Given the description of an element on the screen output the (x, y) to click on. 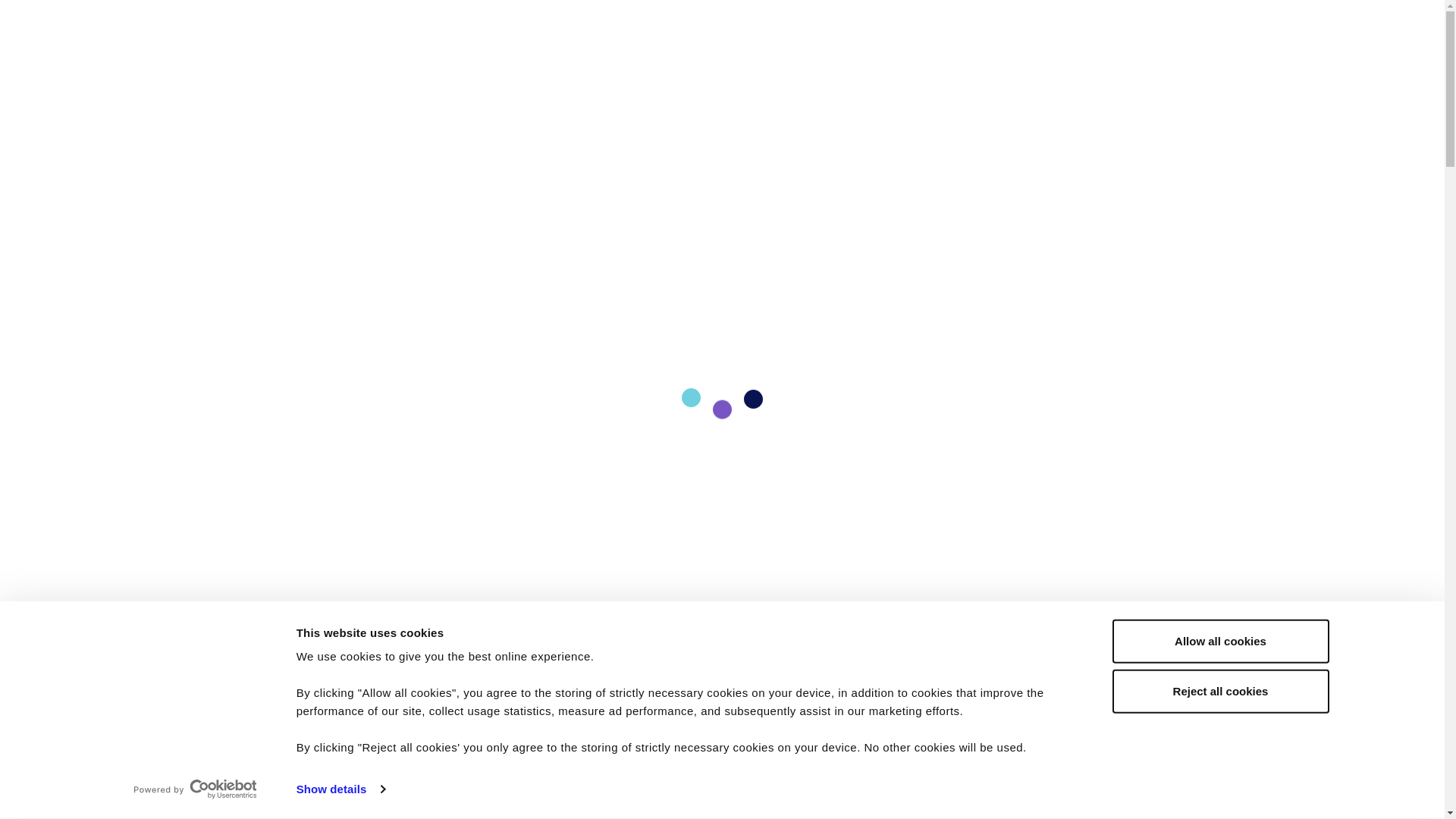
Show details (340, 789)
Reject all cookies (1219, 690)
For candidates (723, 31)
Allow all cookies (1219, 641)
